Given the description of an element on the screen output the (x, y) to click on. 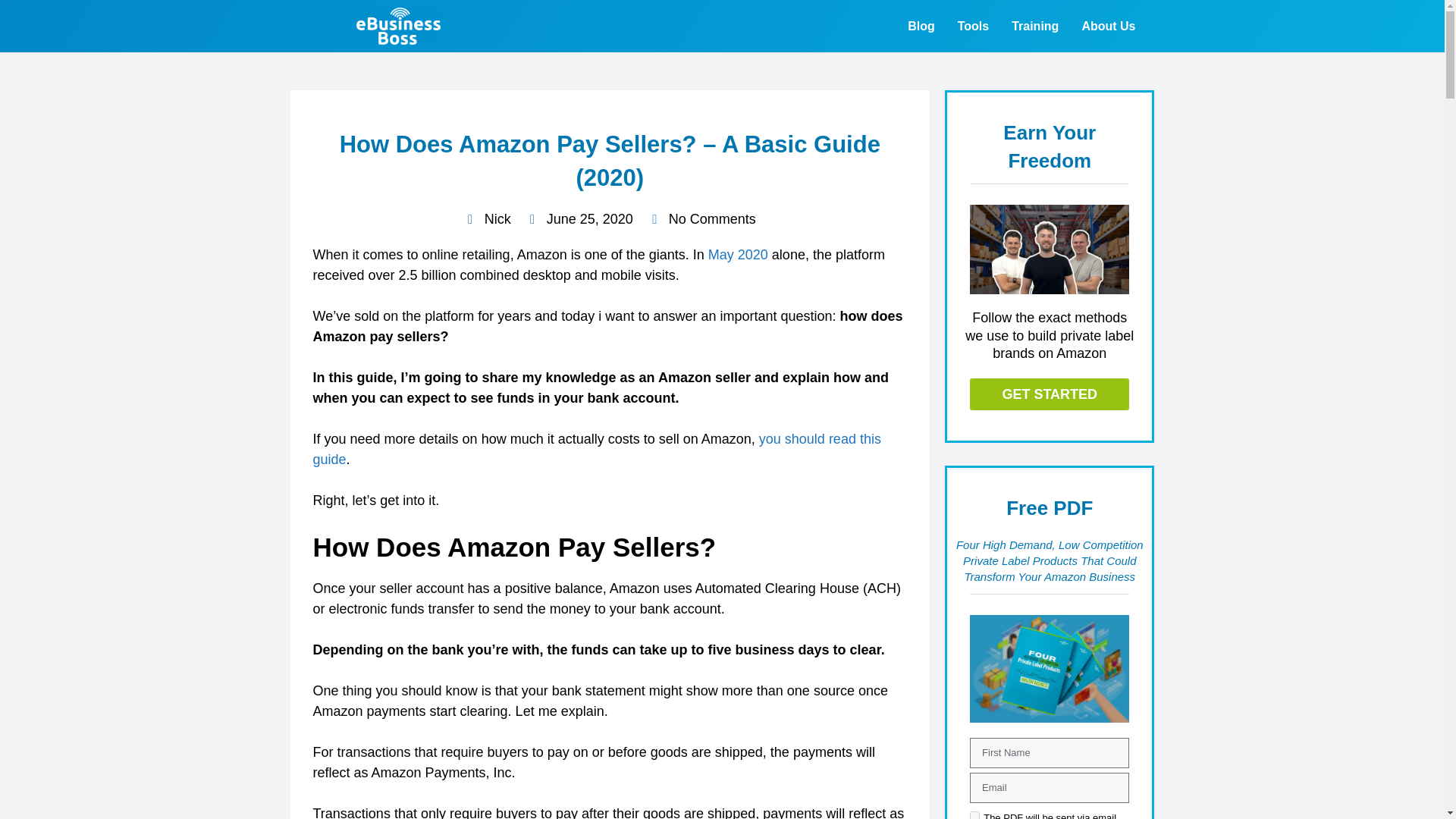
About Us (1108, 26)
No Comments (701, 219)
on (974, 815)
June 25, 2020 (579, 219)
Tools (973, 26)
Blog (921, 26)
you should read this guide (596, 448)
Nick (487, 219)
May 2020 (737, 254)
GET STARTED (1049, 393)
Training (1035, 26)
